Given the description of an element on the screen output the (x, y) to click on. 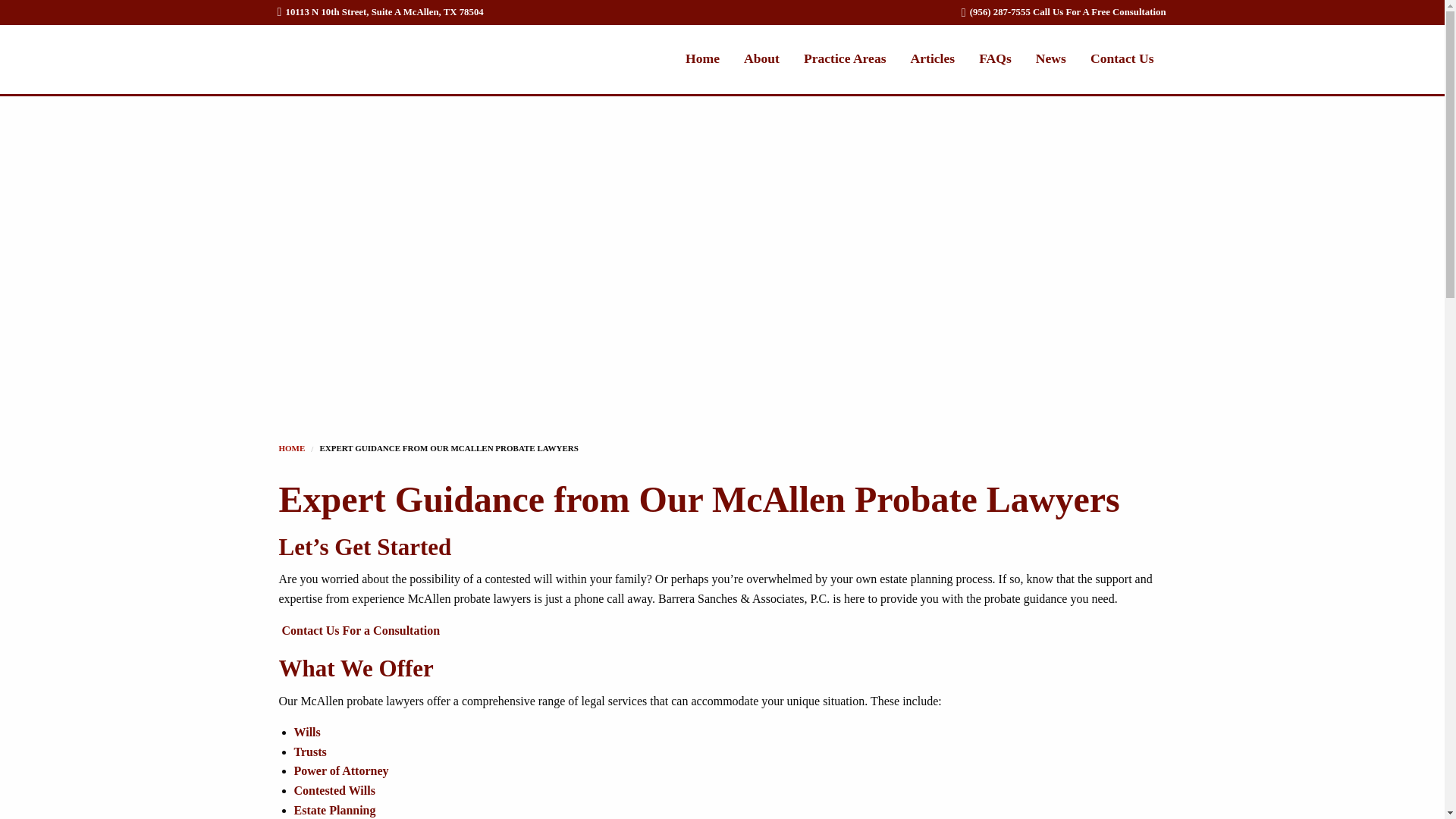
Practice Areas (845, 58)
Home (702, 58)
Home (292, 447)
About (762, 58)
10113 N 10th Street, Suite A McAllen, TX 78504 (381, 11)
